Given the description of an element on the screen output the (x, y) to click on. 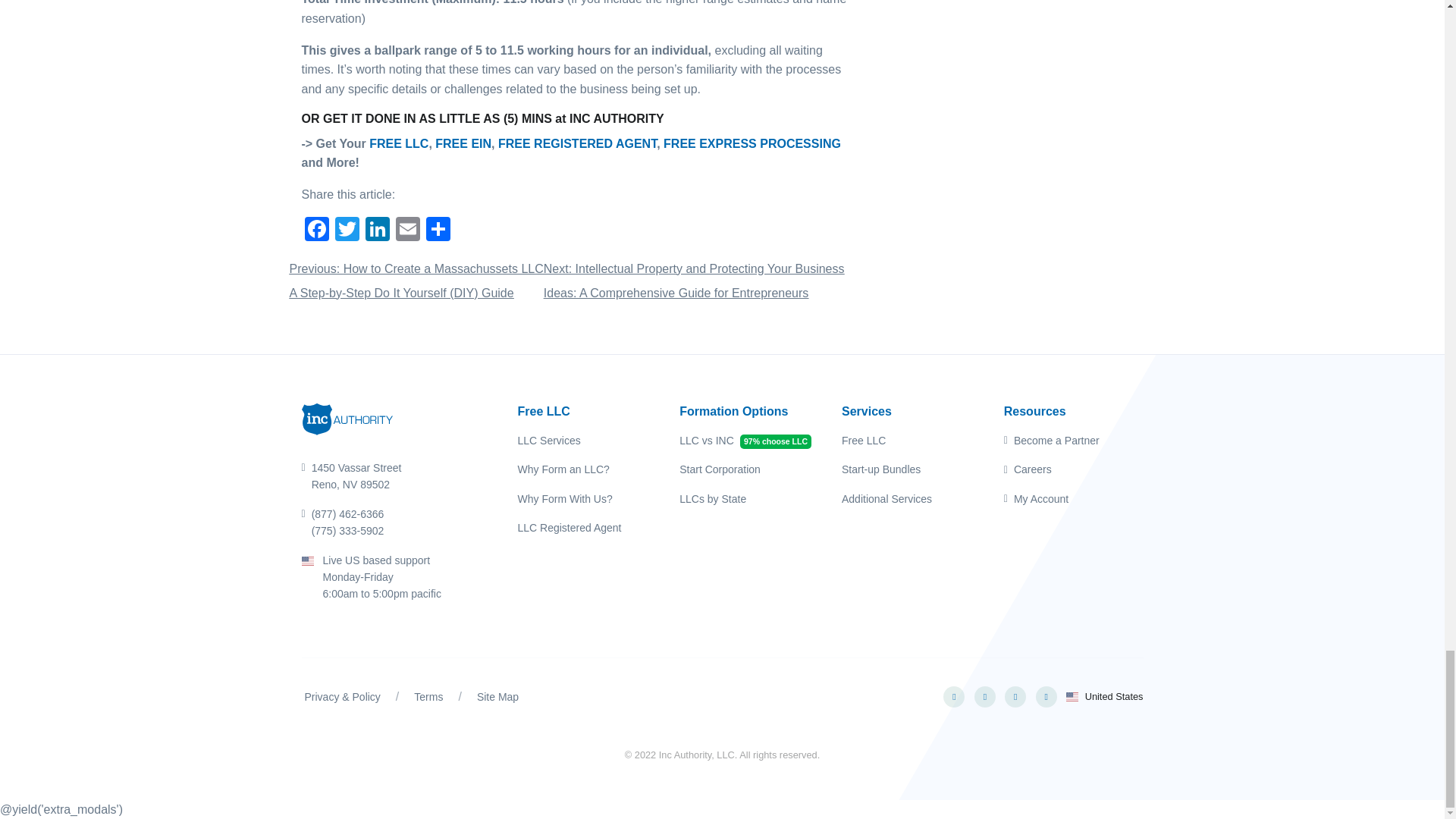
Twitter (346, 230)
LinkedIn (377, 230)
Email (408, 230)
Facebook (316, 230)
